Given the description of an element on the screen output the (x, y) to click on. 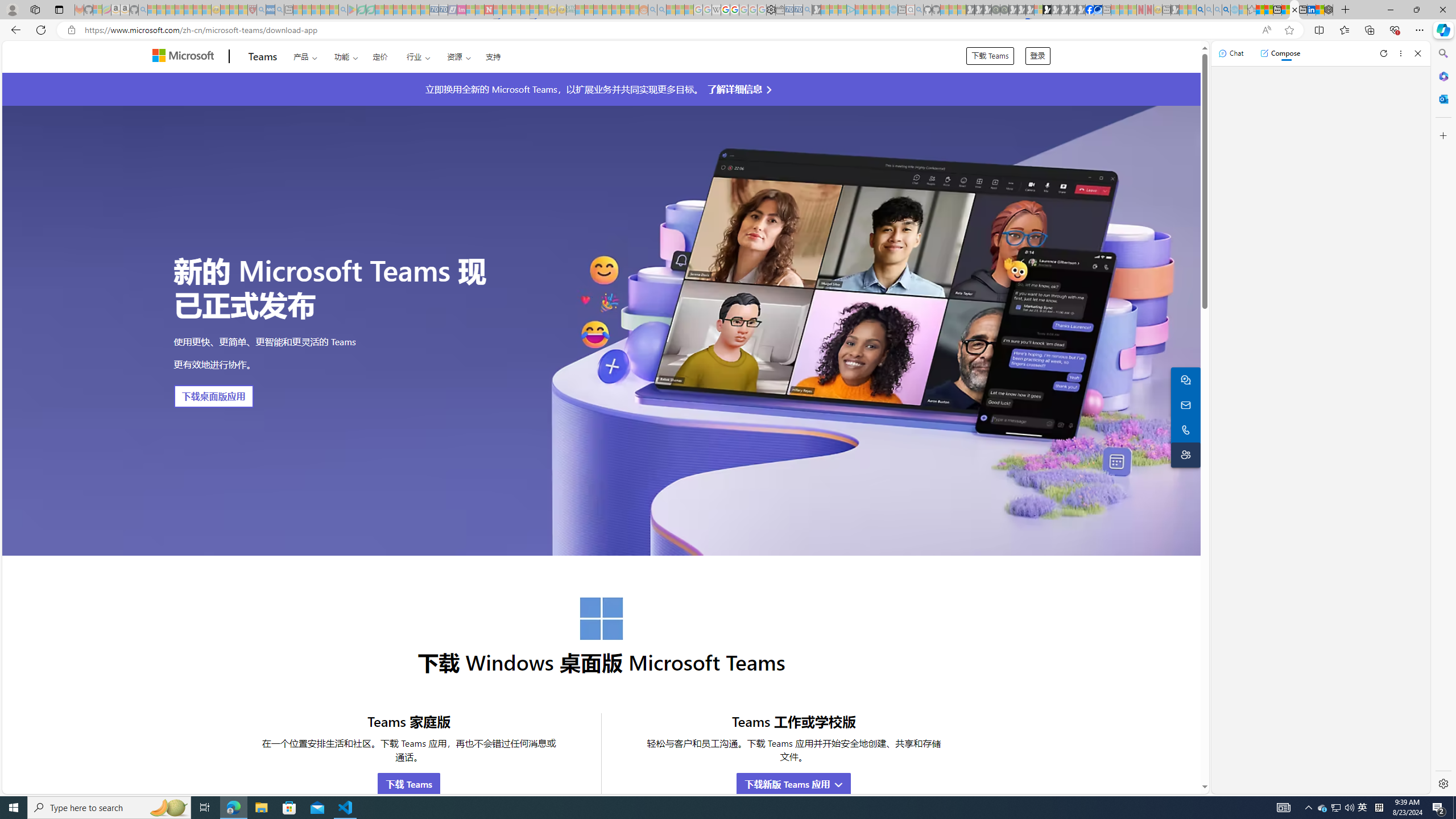
The Weather Channel - MSN - Sleeping (170, 9)
Bing Real Estate - Home sales and rental listings - Sleeping (806, 9)
